Given the description of an element on the screen output the (x, y) to click on. 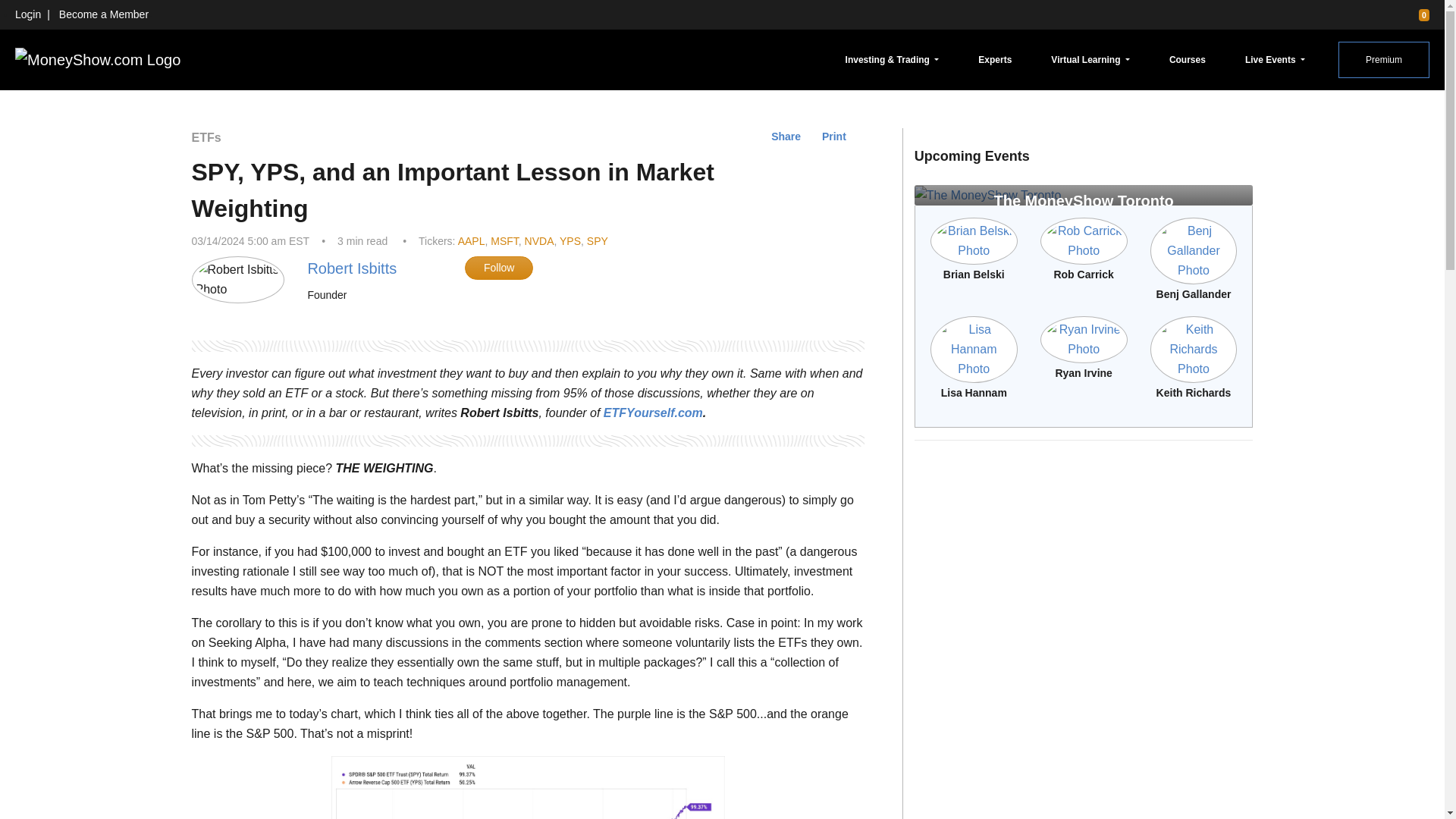
Become a Member (103, 14)
Advertisement (1083, 558)
Courses (1187, 59)
Experts (994, 59)
AAPL (471, 241)
Live Events (1275, 59)
MSFT (504, 241)
0 (1416, 14)
Print (833, 136)
Virtual Learning (1090, 59)
